Given the description of an element on the screen output the (x, y) to click on. 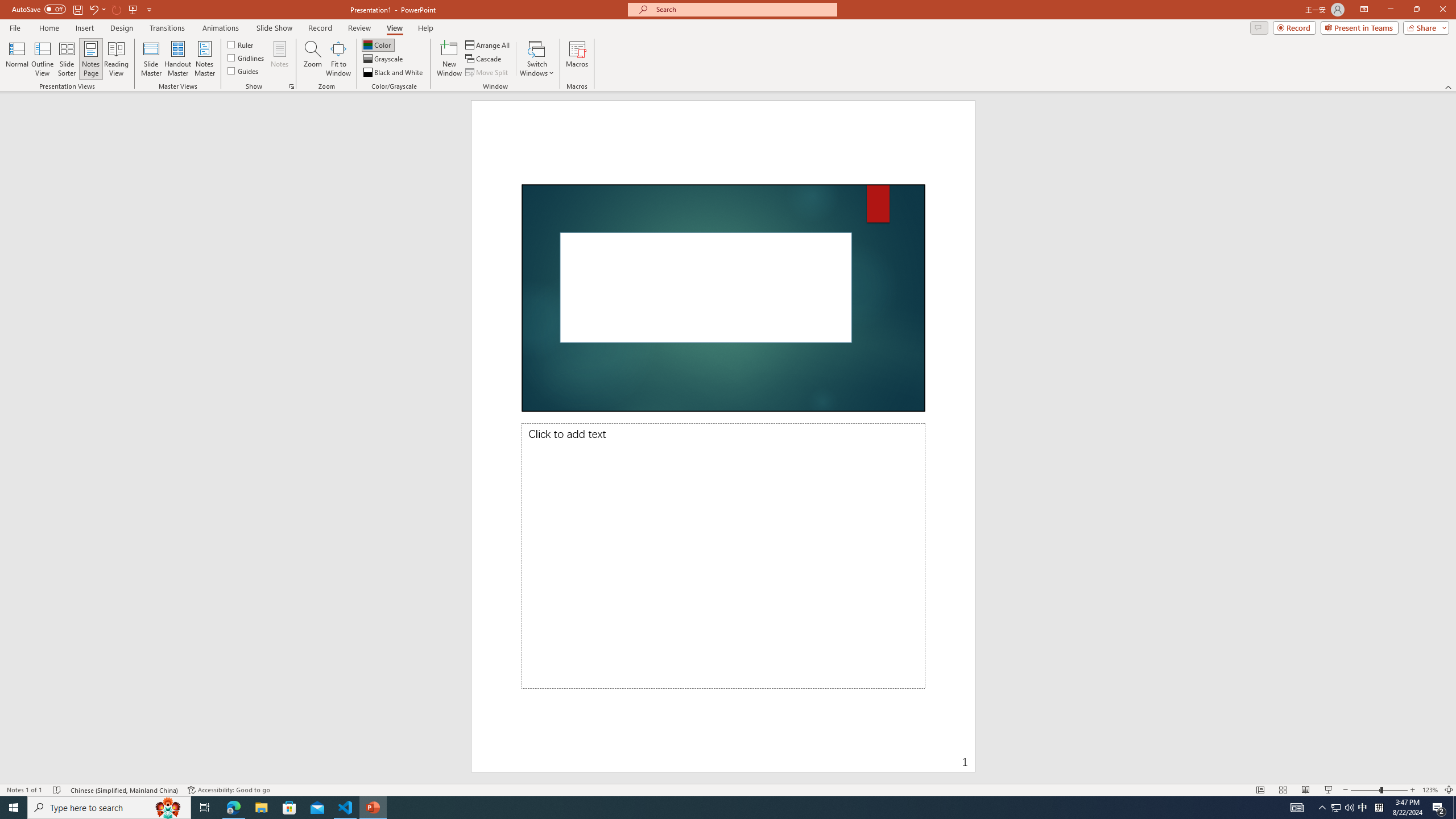
Switch Windows (537, 58)
Class: MsoCommandBar (728, 789)
Present in Teams (1359, 27)
Design (122, 28)
From Beginning (133, 9)
Redo (117, 9)
Review (359, 28)
Slide Sorter (1282, 790)
Guides (243, 69)
Slide Master (151, 58)
